Given the description of an element on the screen output the (x, y) to click on. 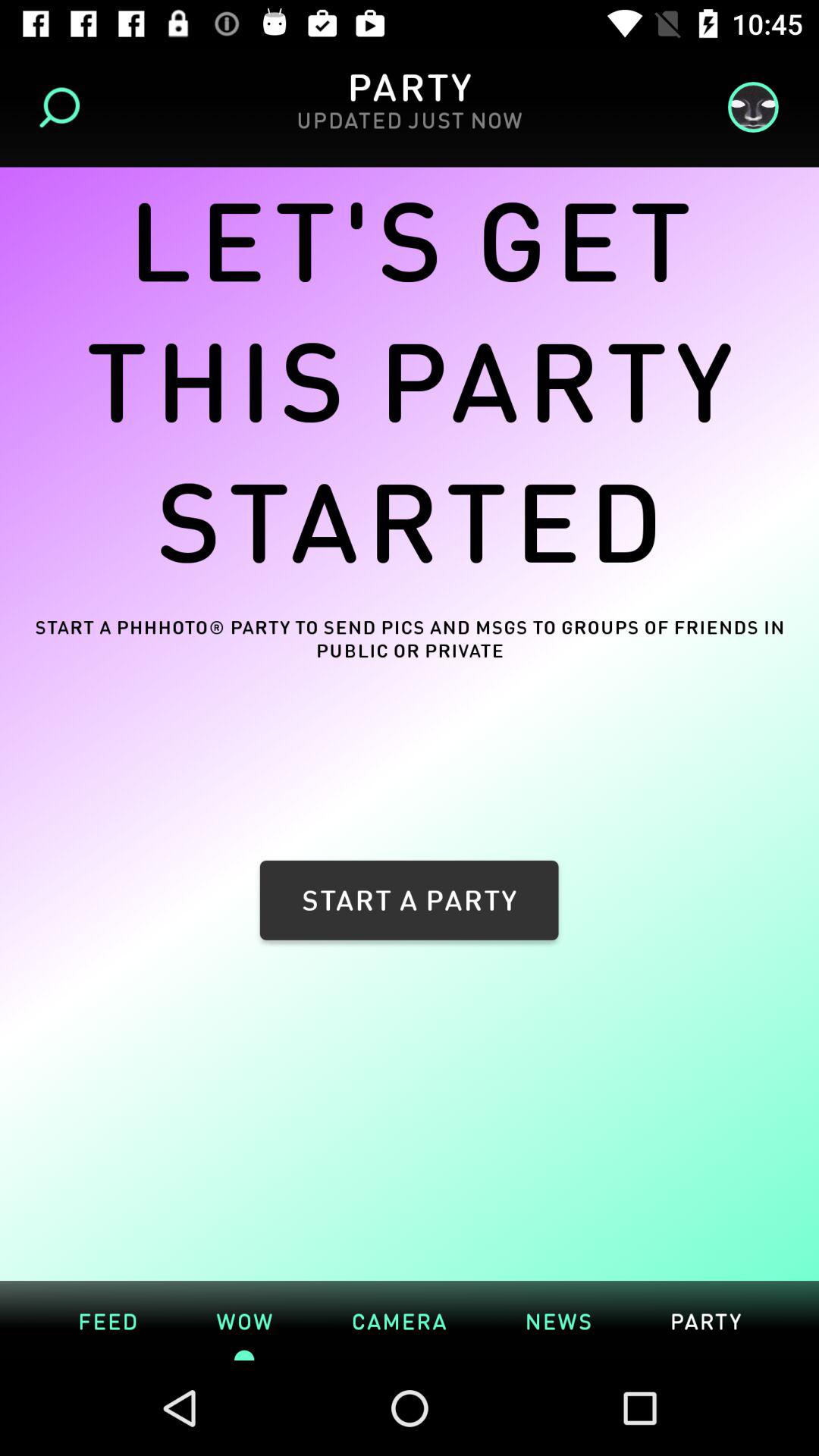
turn off the icon next to the updated just now (64, 107)
